Given the description of an element on the screen output the (x, y) to click on. 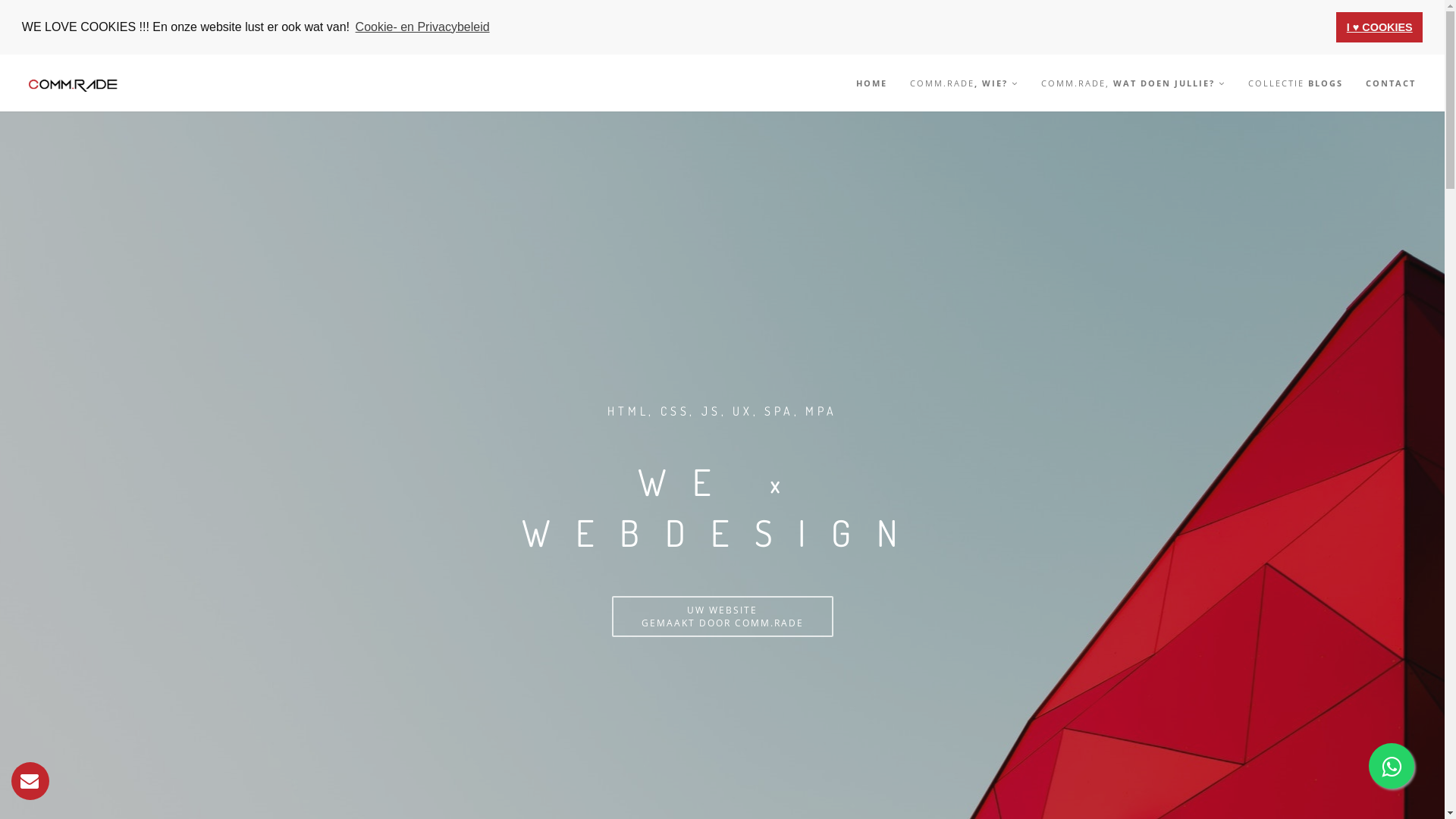
UW WEBSITE
GEMAAKT DOOR COMM.RADE Element type: text (721, 616)
HOME Element type: text (871, 82)
COMM.RADE, WAT DOEN JULLIE? Element type: text (1133, 82)
COLLECTIE BLOGS Element type: text (1295, 82)
CONTACT Element type: text (1390, 82)
COMM.RADE, WIE? Element type: text (964, 82)
Cookie- en Privacybeleid Element type: text (421, 26)
